Given the description of an element on the screen output the (x, y) to click on. 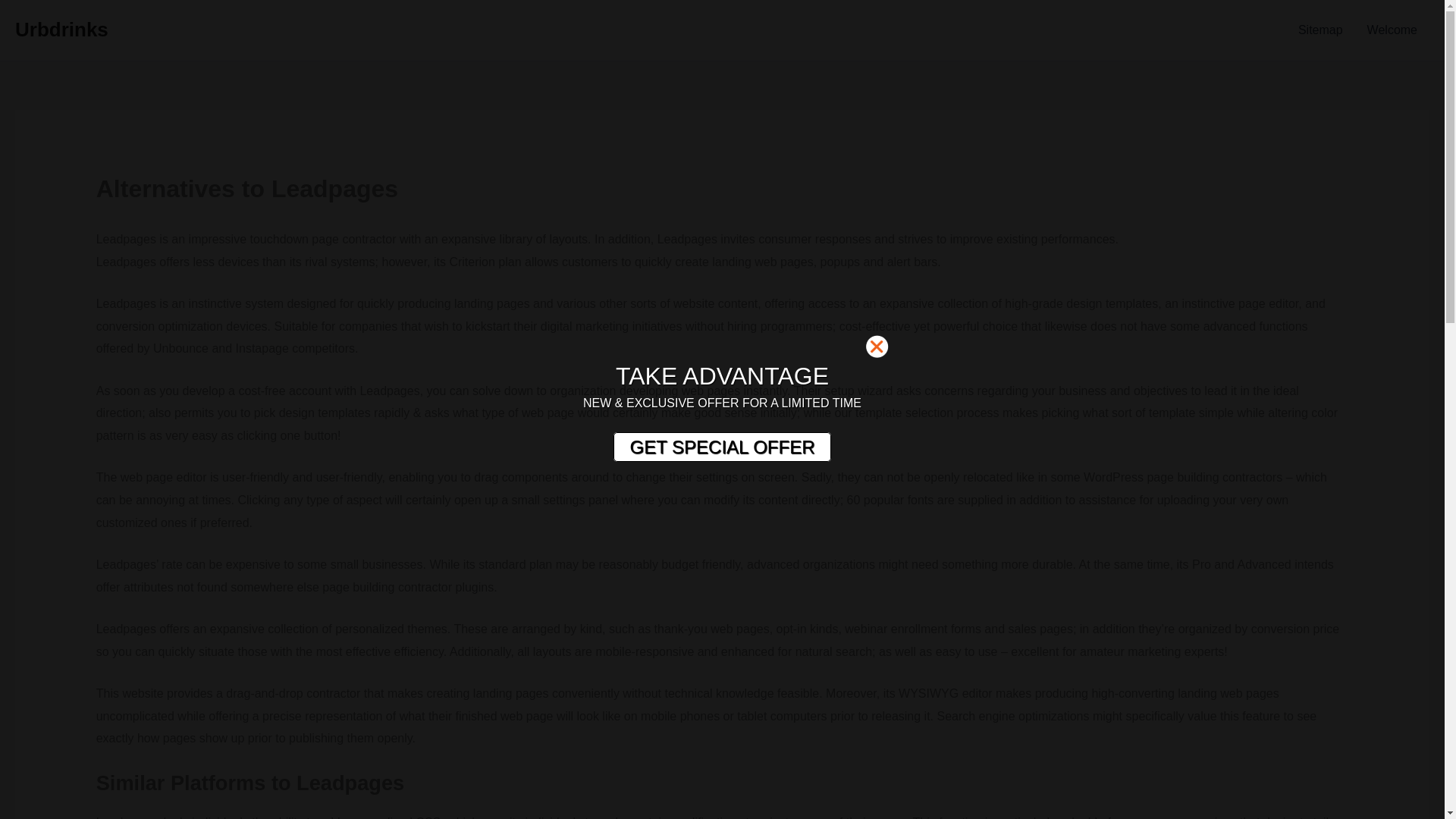
Welcome (1392, 30)
GET SPECIAL OFFER (720, 446)
Urbdrinks (60, 29)
Sitemap (1320, 30)
